Given the description of an element on the screen output the (x, y) to click on. 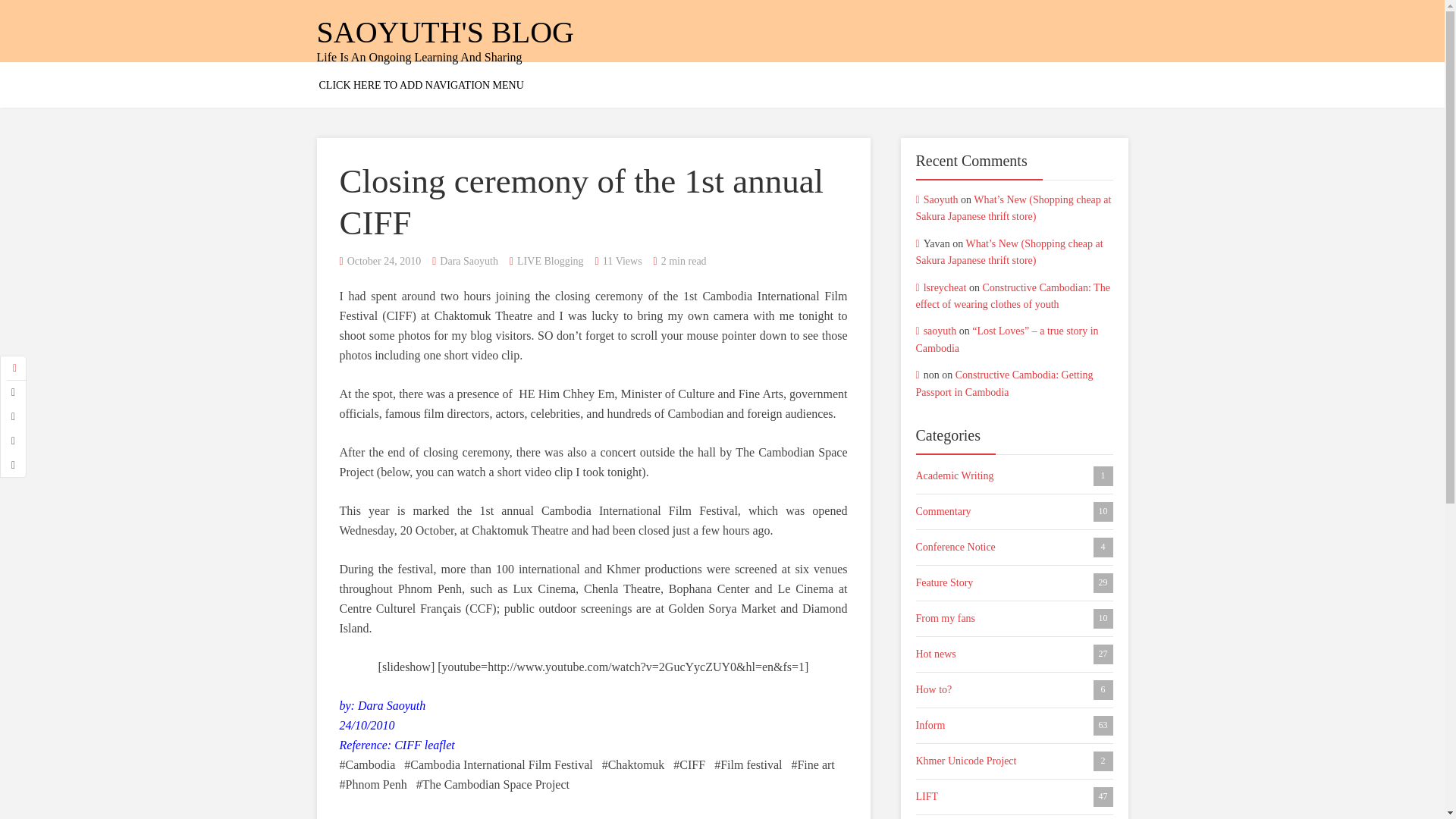
lsreycheat (944, 287)
Cambodia (367, 764)
Film festival (747, 764)
Film Festival (1014, 511)
Film festival (593, 305)
SAOYUTH'S BLOG (1014, 582)
Saoyuth's Blog (1014, 547)
Saoyuth (593, 305)
Cambodia International Film Festival (445, 32)
saoyuth (445, 32)
CIFF (940, 199)
